Given the description of an element on the screen output the (x, y) to click on. 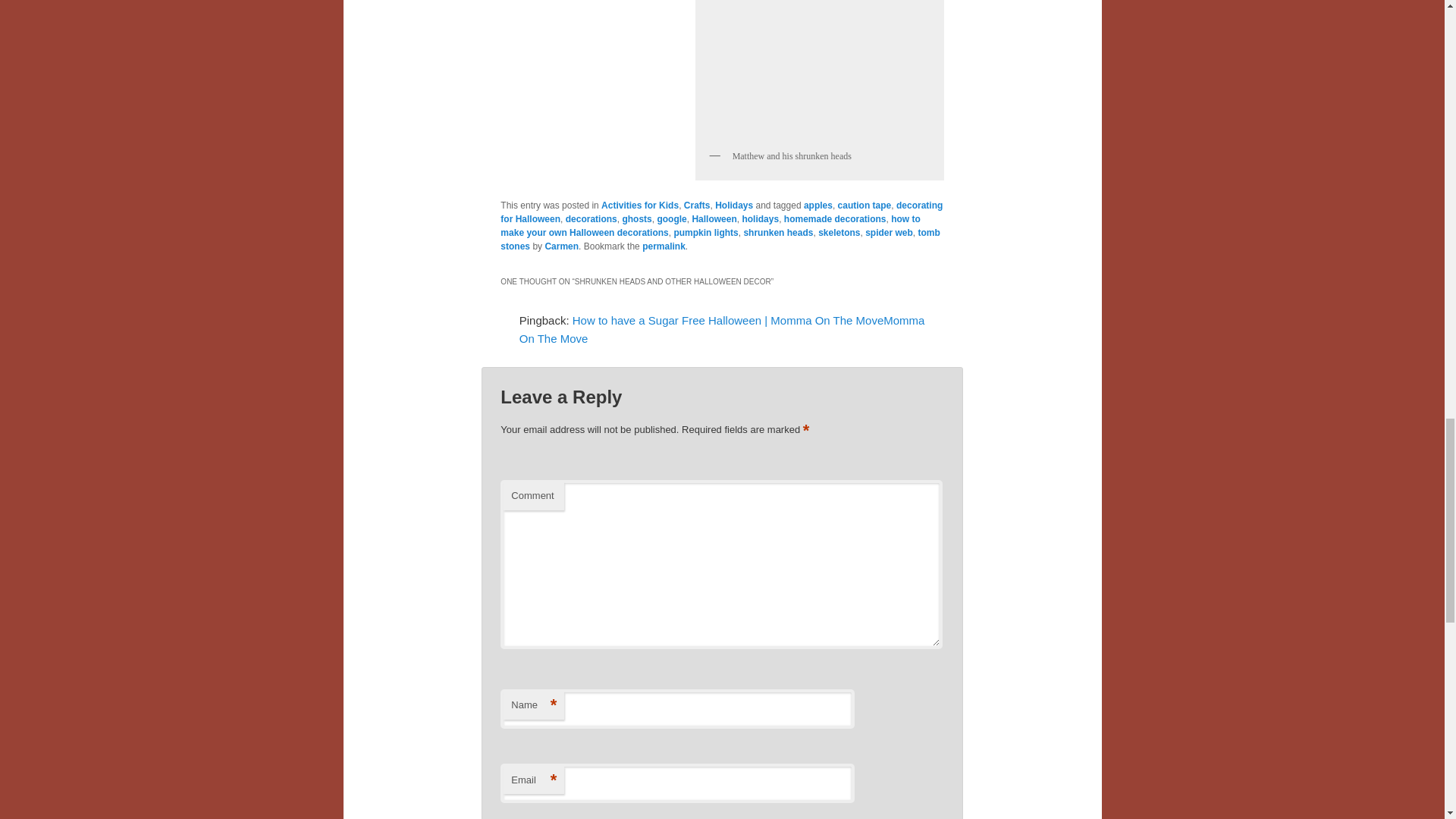
holidays (759, 218)
skeletons (839, 232)
apples (817, 204)
homemade decorations (835, 218)
spider web (888, 232)
Activities for Kids (639, 204)
Holidays (733, 204)
Permalink to Shrunken Heads and other Halloween Decor (663, 245)
Crafts (697, 204)
decorating for Halloween (721, 211)
